Given the description of an element on the screen output the (x, y) to click on. 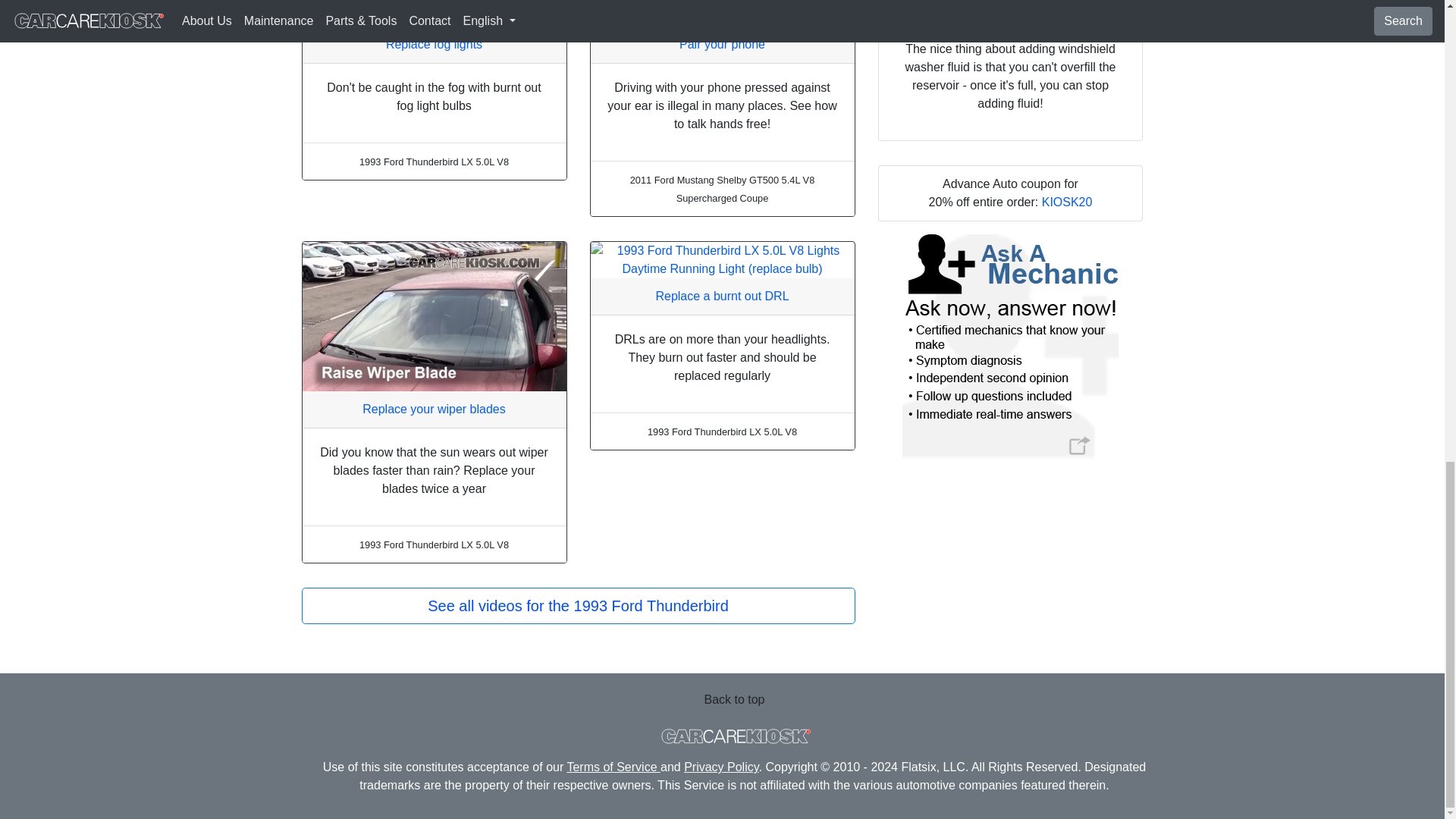
KIOSK20 (1067, 201)
Back to top (734, 699)
Replace a burnt out DRL (722, 295)
See all videos for the 1993 Ford Thunderbird (578, 605)
Replace fog lights (433, 43)
Pair your phone (722, 43)
Replace your wiper blades (433, 408)
